Given the description of an element on the screen output the (x, y) to click on. 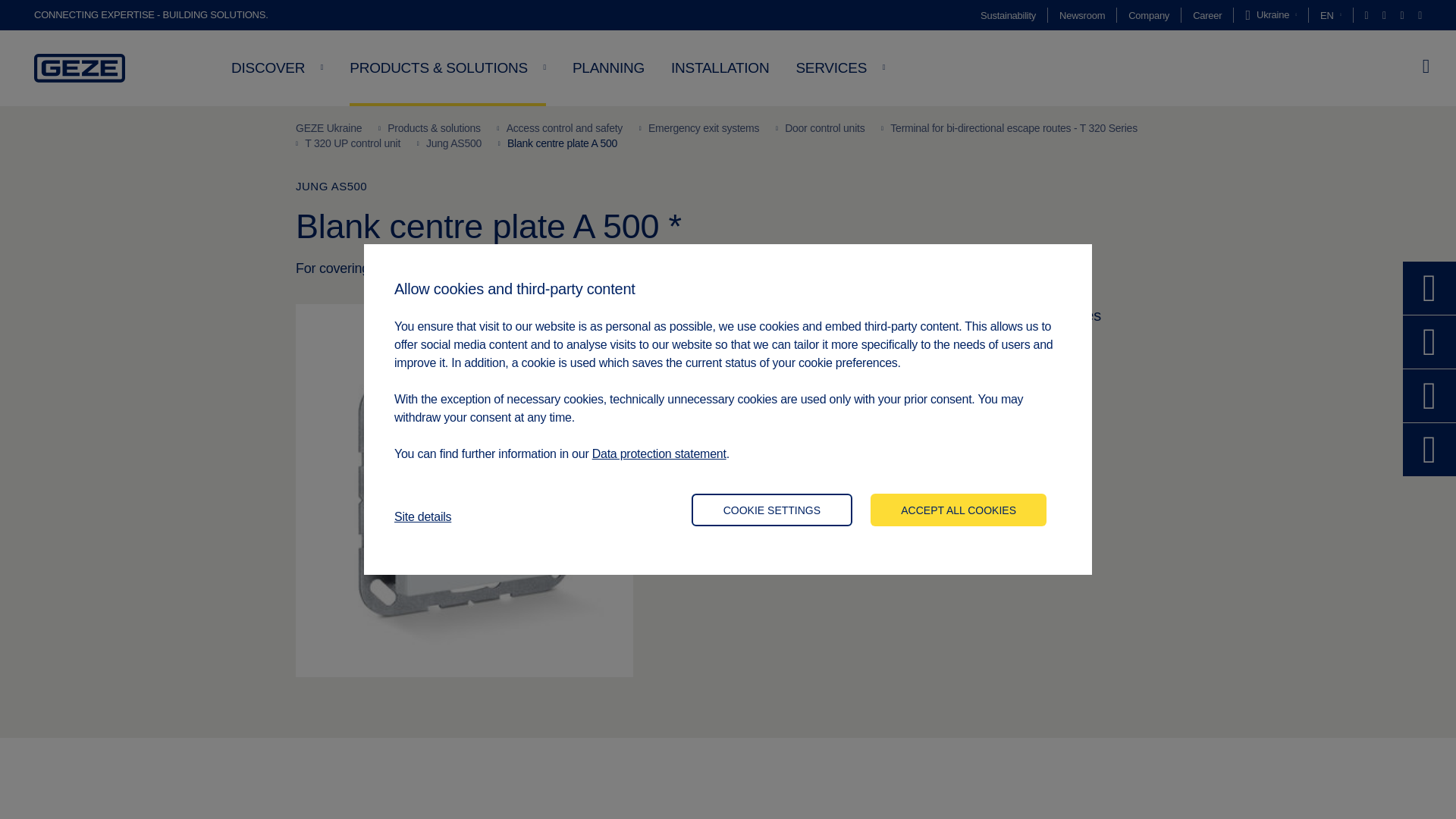
Sustainability (1007, 15)
Company (1148, 15)
Career (1206, 15)
Career (1206, 15)
Newsroom (1082, 15)
Sustainability (1007, 15)
Newsroom (1082, 15)
Company (1148, 15)
Ukraine (1270, 15)
